Given the description of an element on the screen output the (x, y) to click on. 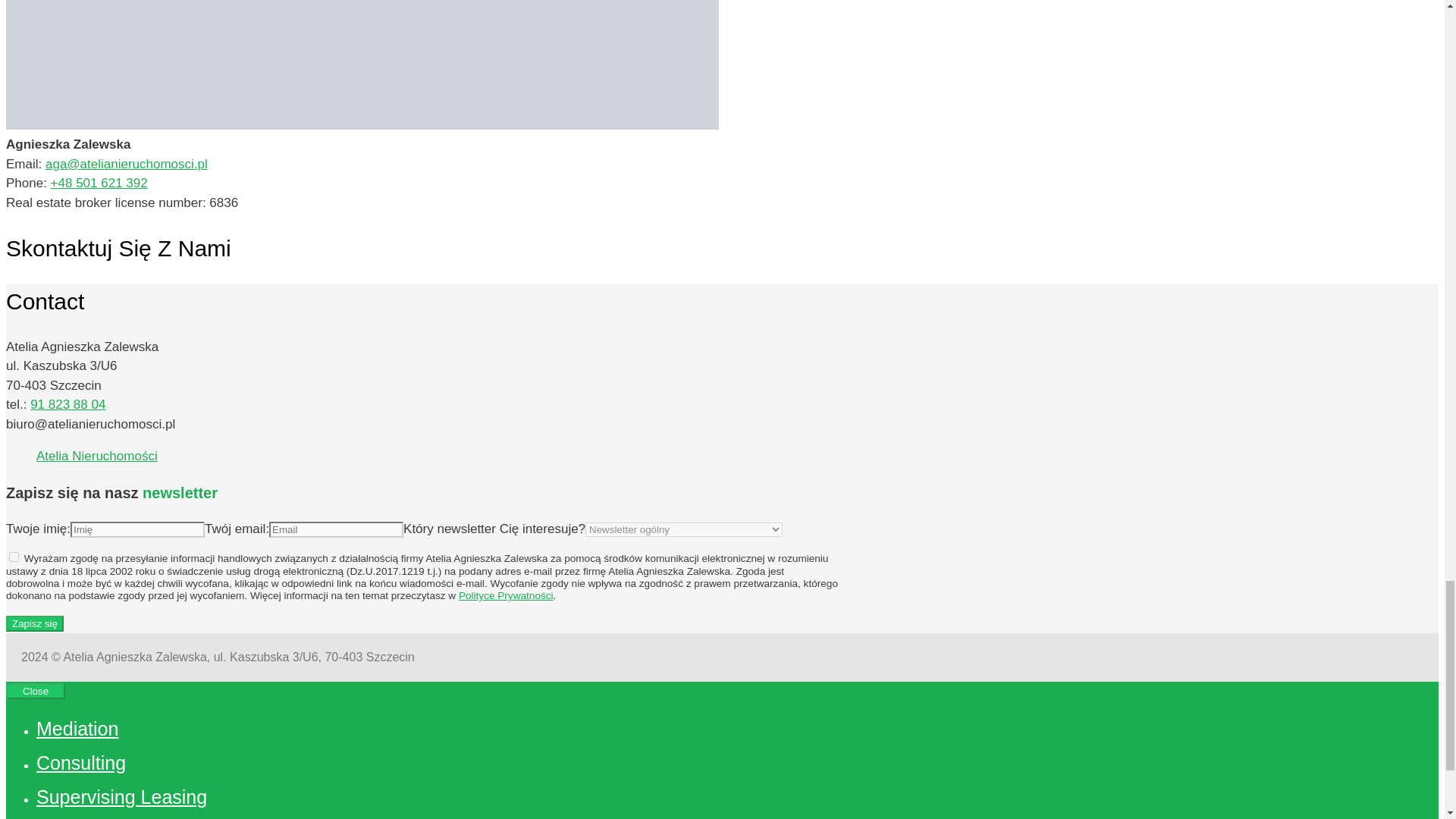
true (13, 556)
91 823 88 04 (67, 404)
Consulting (80, 762)
Close (35, 691)
Mediation (76, 728)
Supervising Leasing (121, 796)
